Given the description of an element on the screen output the (x, y) to click on. 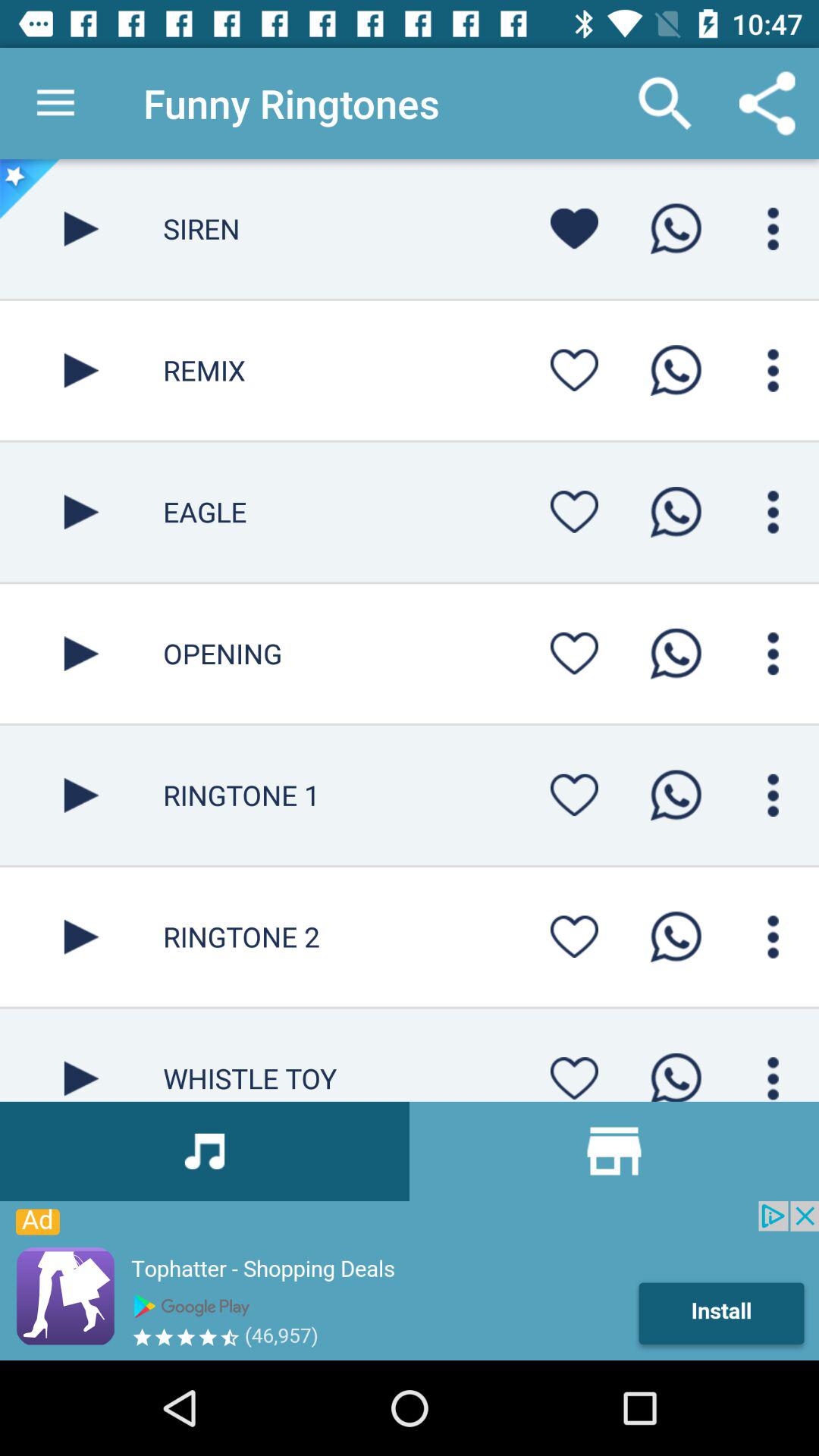
like (574, 511)
